Given the description of an element on the screen output the (x, y) to click on. 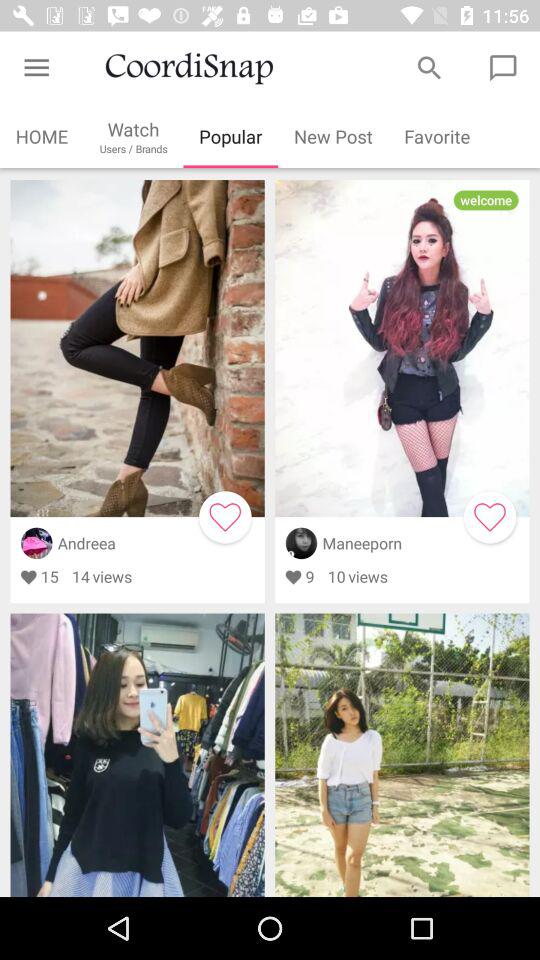
to add the item in the wishlist (225, 517)
